Given the description of an element on the screen output the (x, y) to click on. 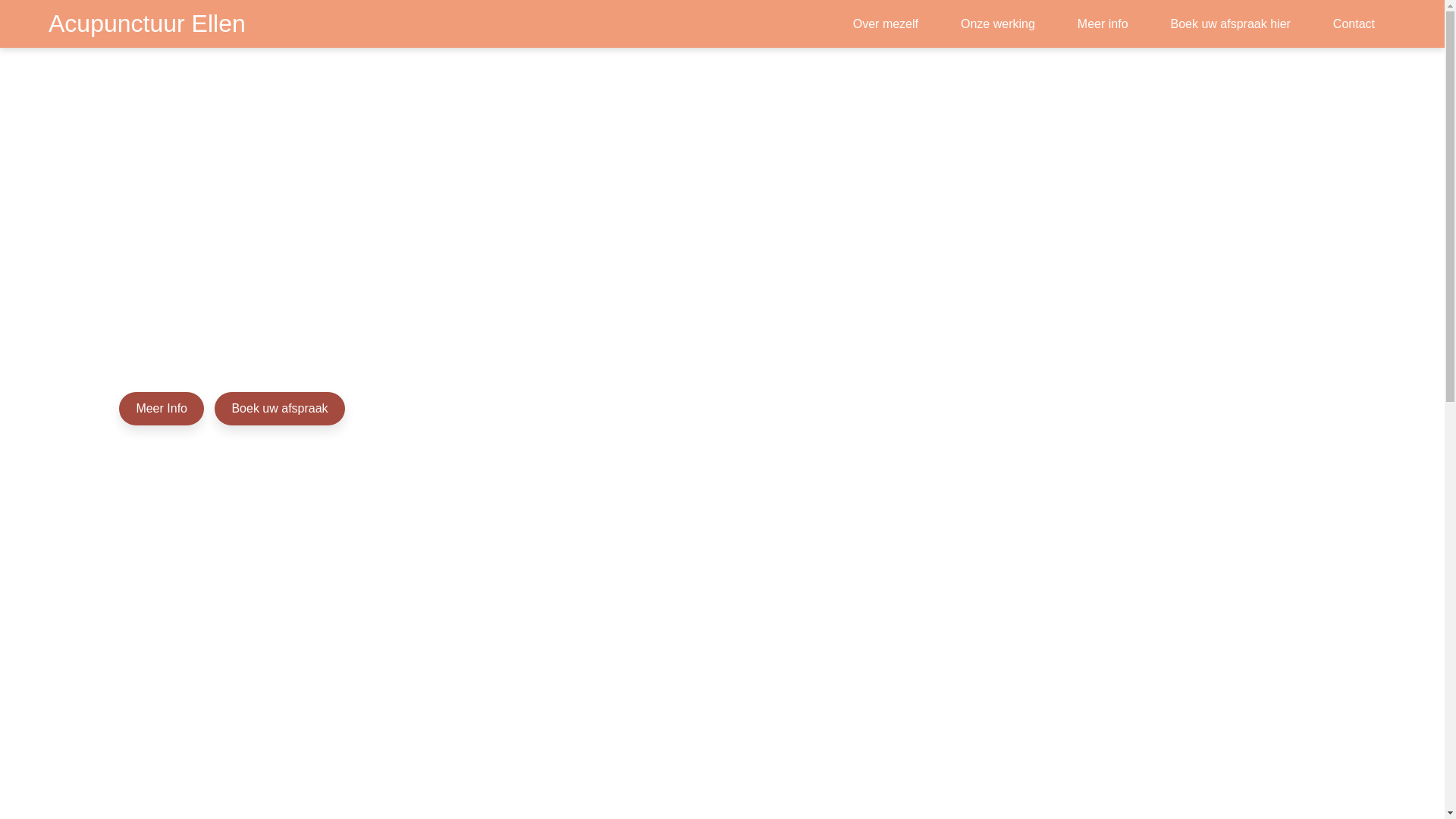
Contact Element type: text (1353, 24)
Meer Info Element type: text (161, 408)
Meer info Element type: text (1102, 24)
Boek uw afspraak Element type: text (279, 408)
Onze werking Element type: text (997, 24)
Over mezelf Element type: text (885, 24)
Acupunctuur Ellen Element type: text (146, 23)
Boek uw afspraak hier Element type: text (1230, 24)
